Given the description of an element on the screen output the (x, y) to click on. 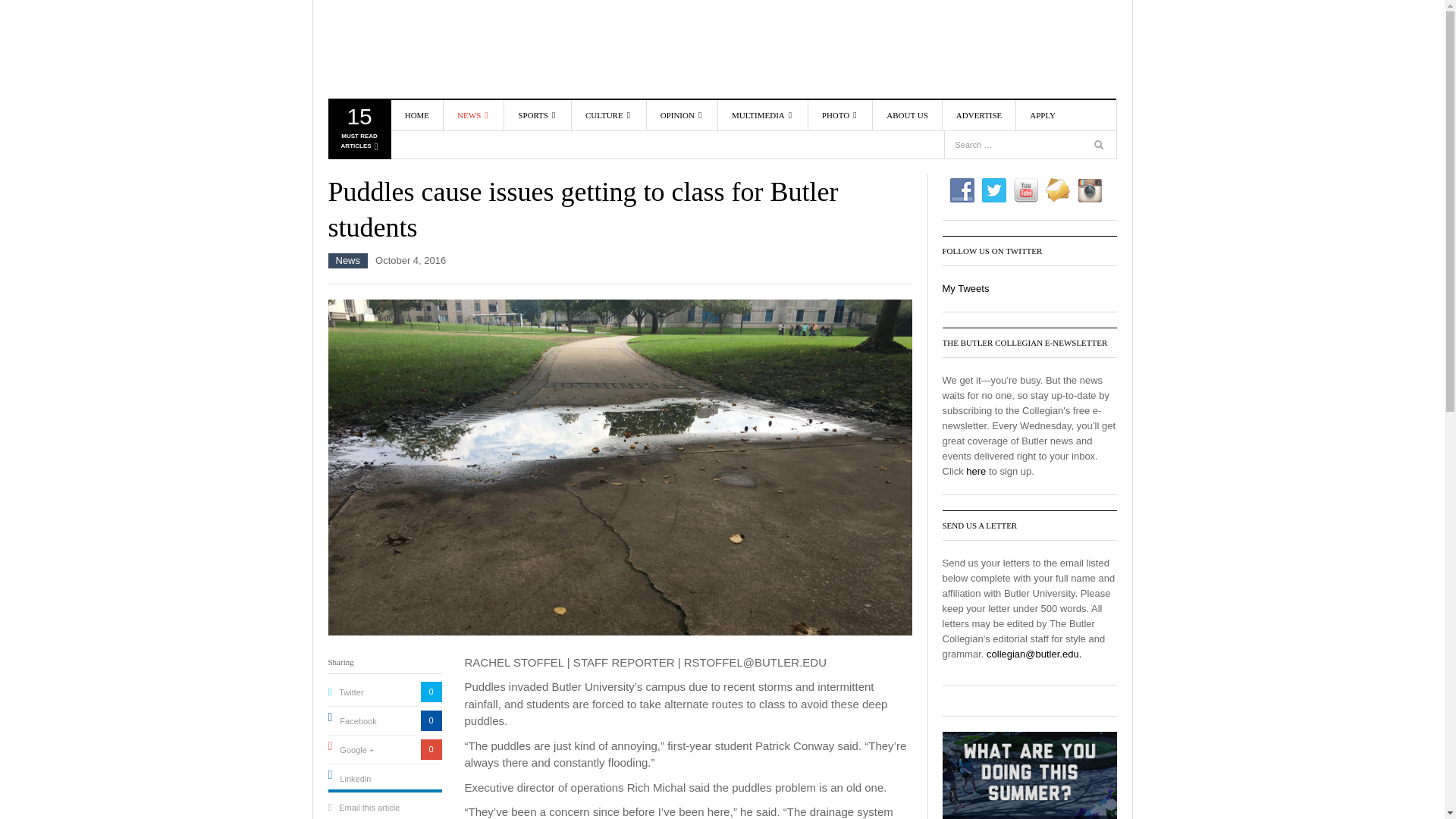
NEWS (499, 149)
BREAKING NEWS (499, 171)
NEWS (473, 114)
HOME (358, 132)
Search (416, 114)
The Butler Collegian (1100, 146)
Search (414, 49)
The Butler Collegian (1091, 115)
